Given the description of an element on the screen output the (x, y) to click on. 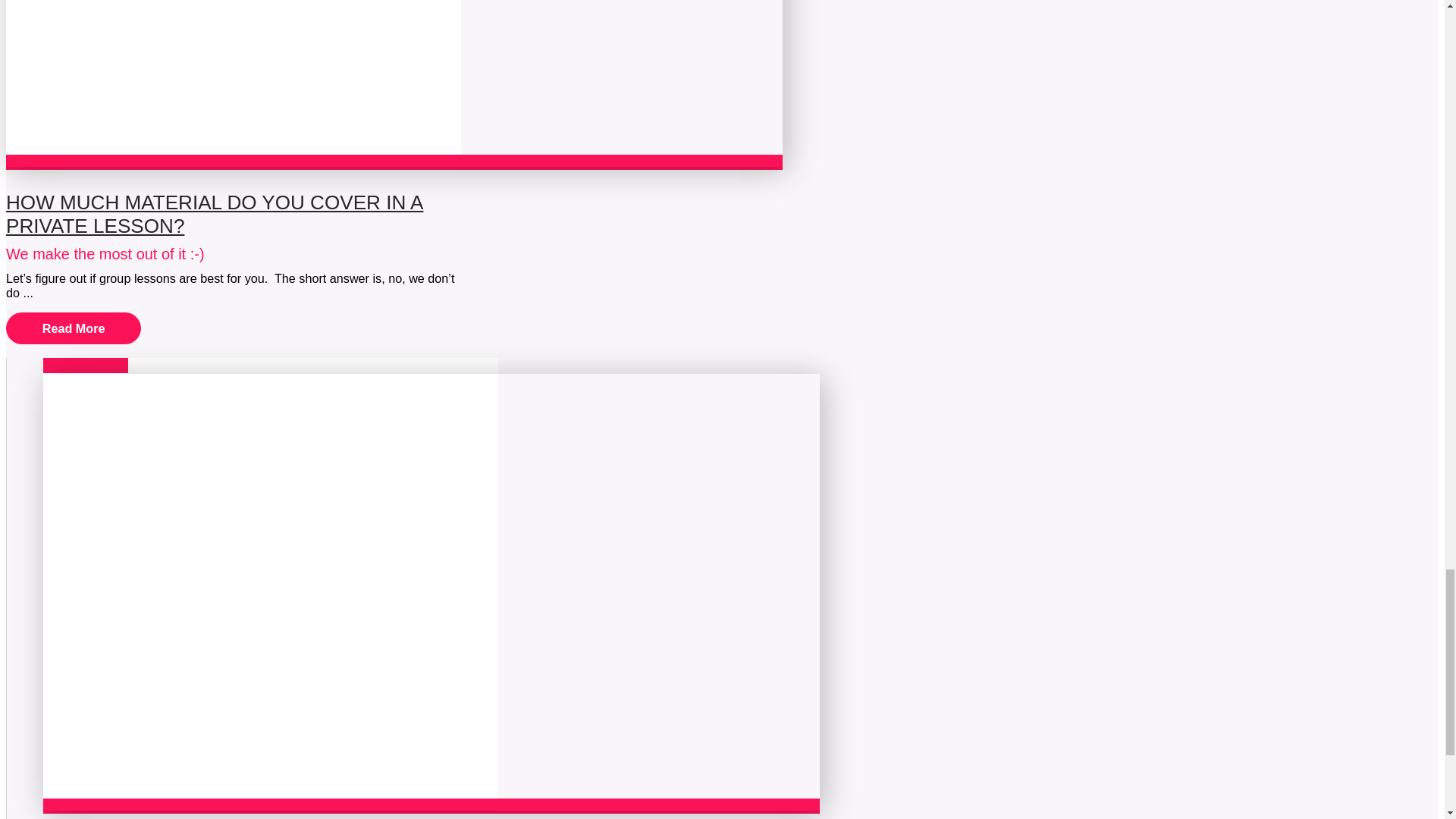
Read More (73, 327)
HOW MUCH MATERIAL DO YOU COVER IN A PRIVATE LESSON? (214, 213)
